Given the description of an element on the screen output the (x, y) to click on. 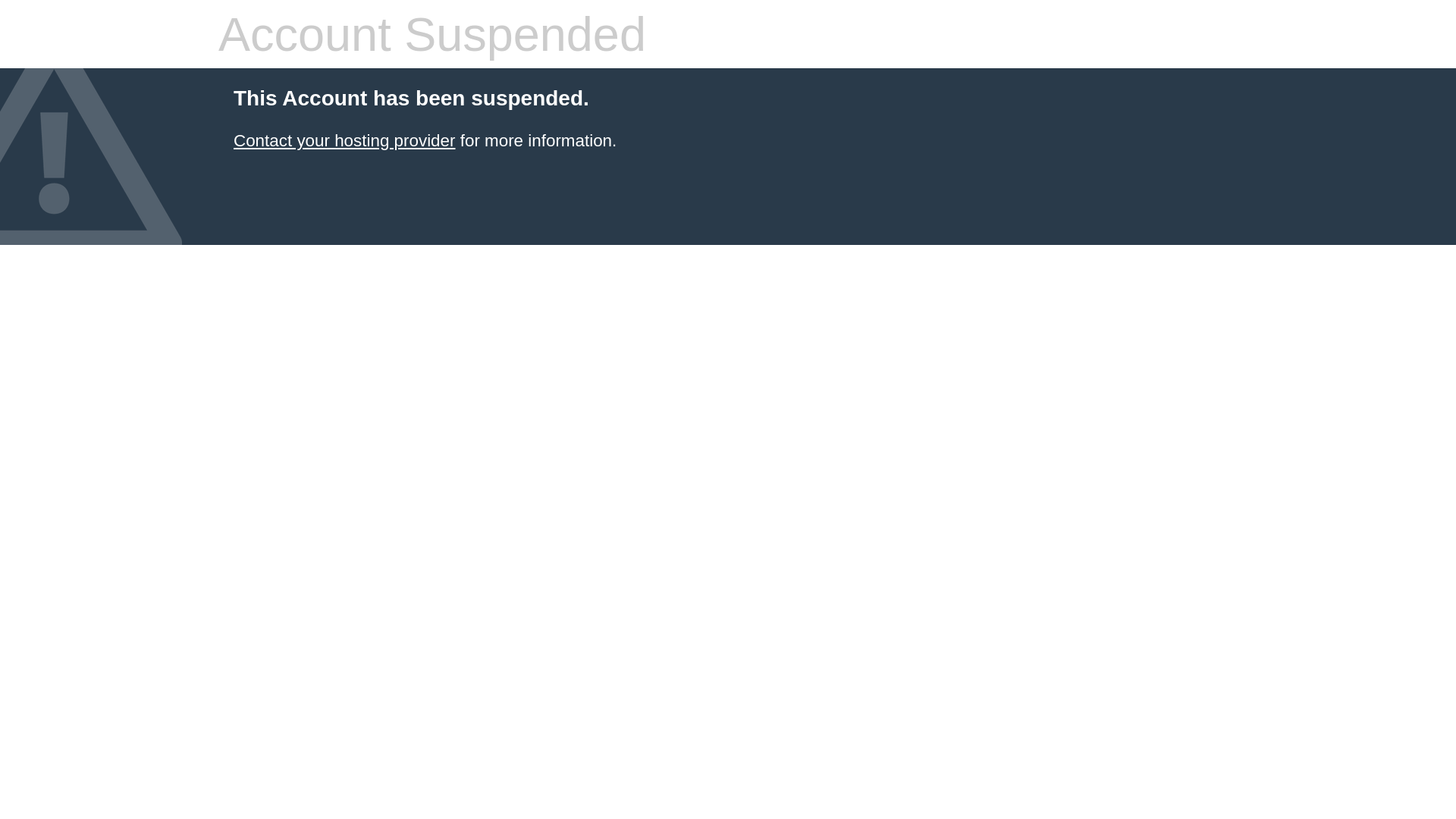
Contact your hosting provider Element type: text (344, 140)
